Given the description of an element on the screen output the (x, y) to click on. 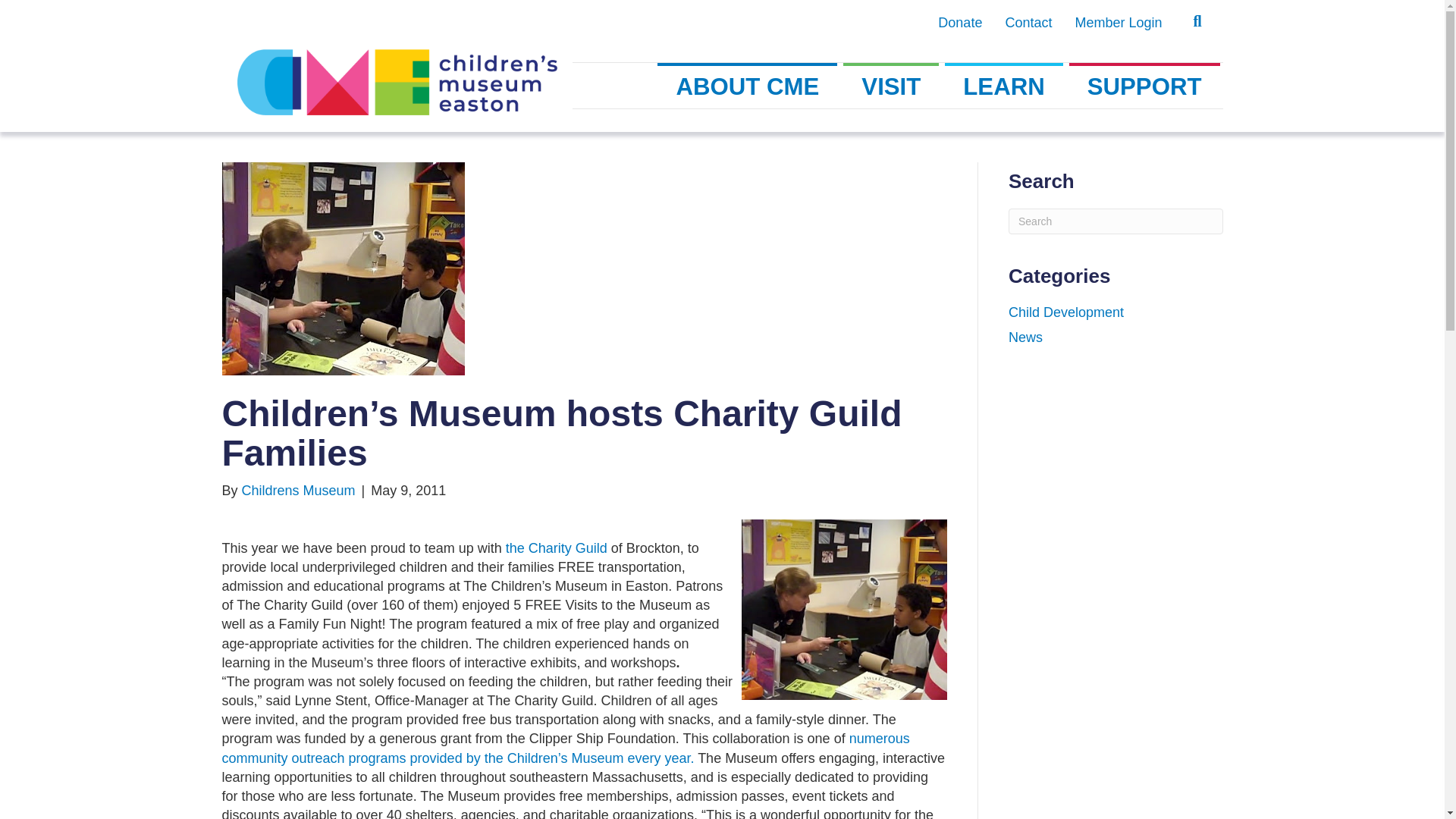
LEARN (1003, 85)
Type and press Enter to search. (1116, 221)
SUPPORT (1144, 85)
Member Login (1117, 22)
VISIT (891, 85)
Contact (1027, 22)
the Charity Guild (556, 548)
Childrens Museum (298, 490)
Donate (959, 22)
ABOUT CME (747, 85)
